Given the description of an element on the screen output the (x, y) to click on. 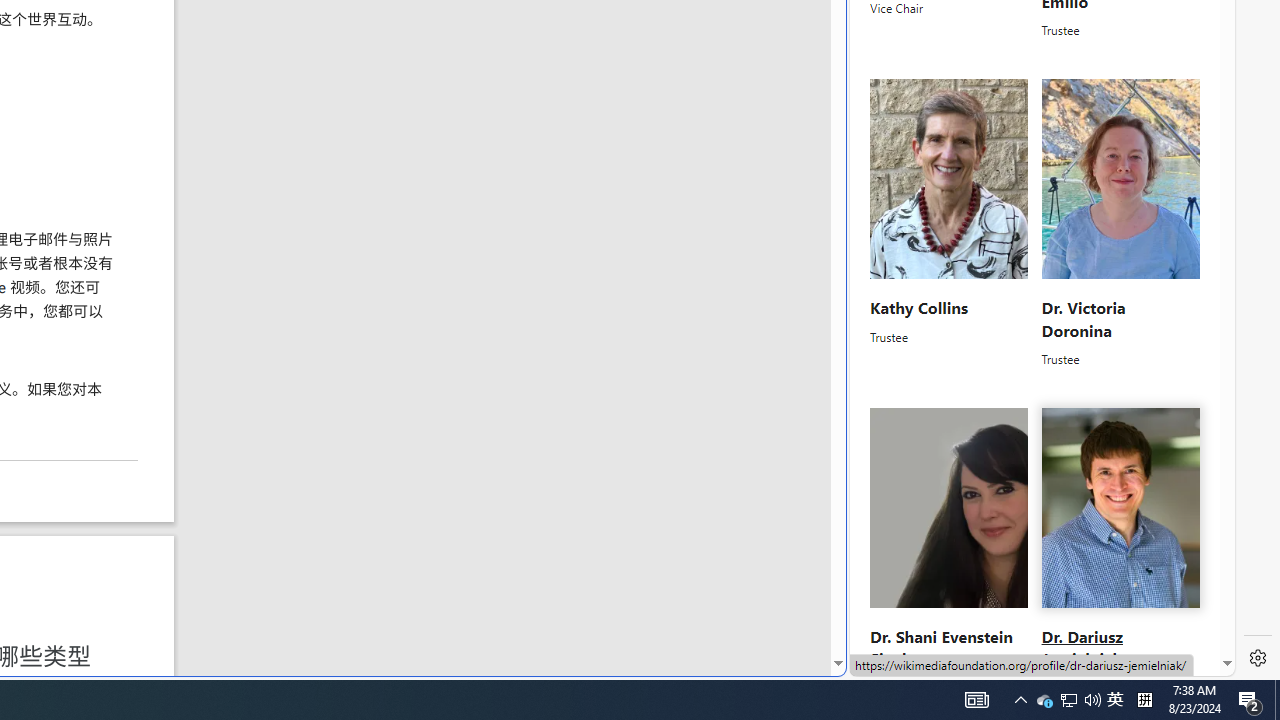
Dr. Shani Evenstein SigalovTrustee (949, 552)
Dr. Victoria Doronina (1082, 318)
Shani Evenstein (949, 508)
Dr. Shani Evenstein Sigalov (940, 647)
Victoria Doronina in 2021 (1120, 179)
Dr. Dariusz JemielniakTrustee (1120, 552)
